Given the description of an element on the screen output the (x, y) to click on. 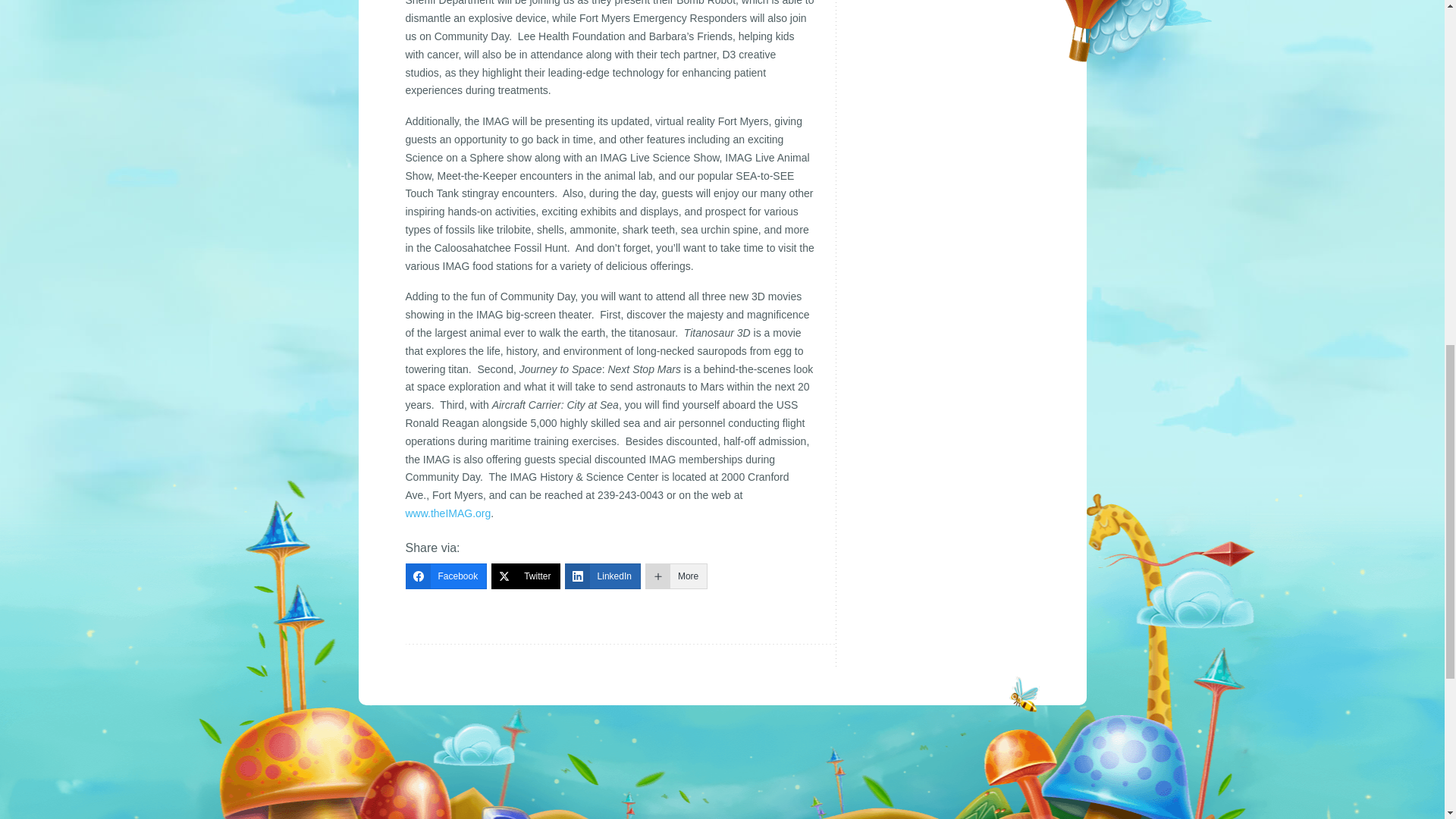
www.theIMAG.org (447, 512)
More (676, 575)
Twitter (525, 575)
LinkedIn (602, 575)
Facebook (445, 575)
